Given the description of an element on the screen output the (x, y) to click on. 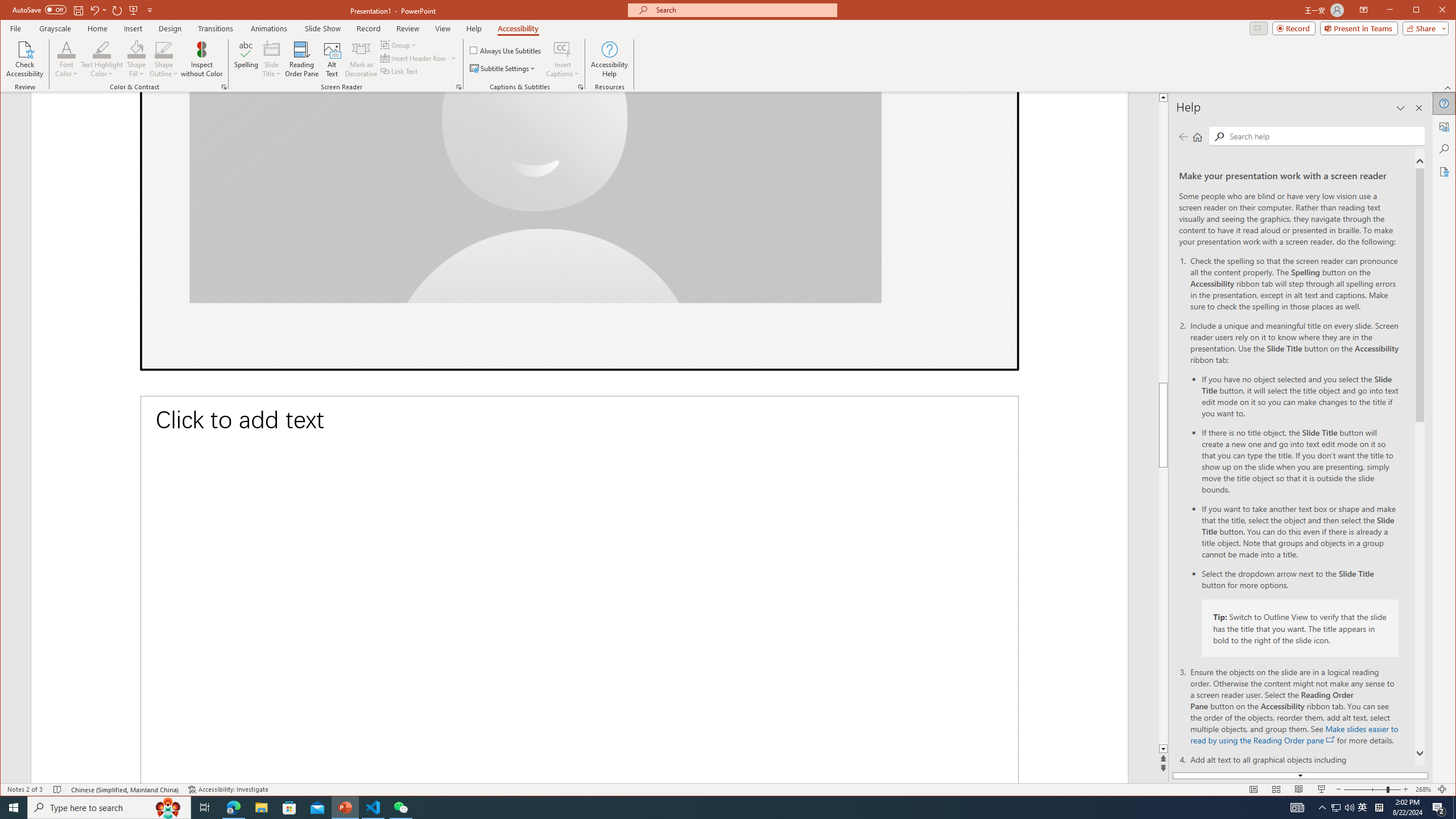
Inspect without Color (201, 59)
Zoom 268% (1422, 789)
